Given the description of an element on the screen output the (x, y) to click on. 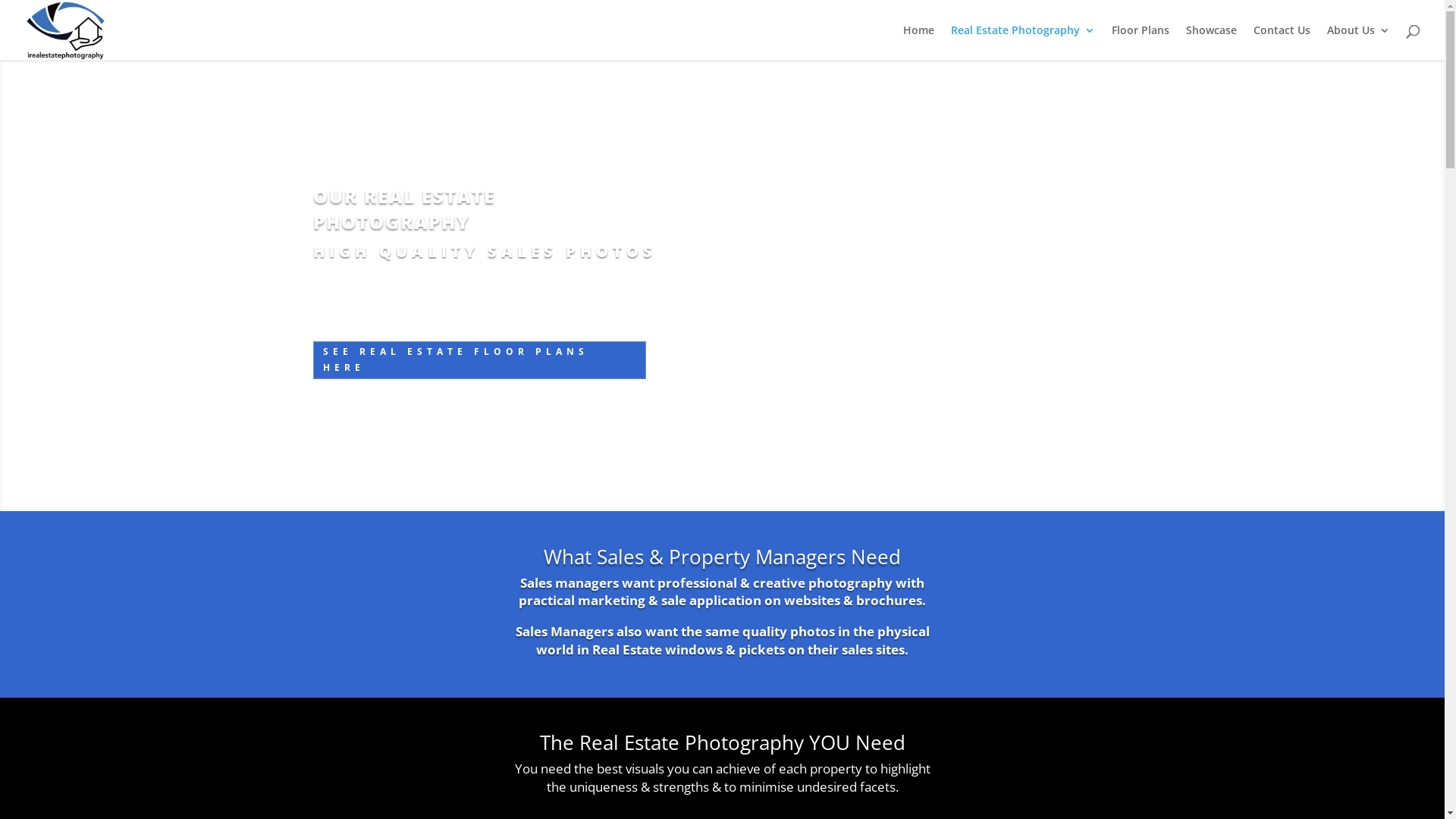
" Element type: text (721, 466)
Floor Plans Element type: text (1140, 42)
About Us Element type: text (1358, 42)
Real Estate Photography Element type: text (1022, 42)
Showcase Element type: text (1211, 42)
Contact Us Element type: text (1281, 42)
Home Element type: text (918, 42)
SEE REAL ESTATE FLOOR PLANS HERE Element type: text (478, 360)
